Given the description of an element on the screen output the (x, y) to click on. 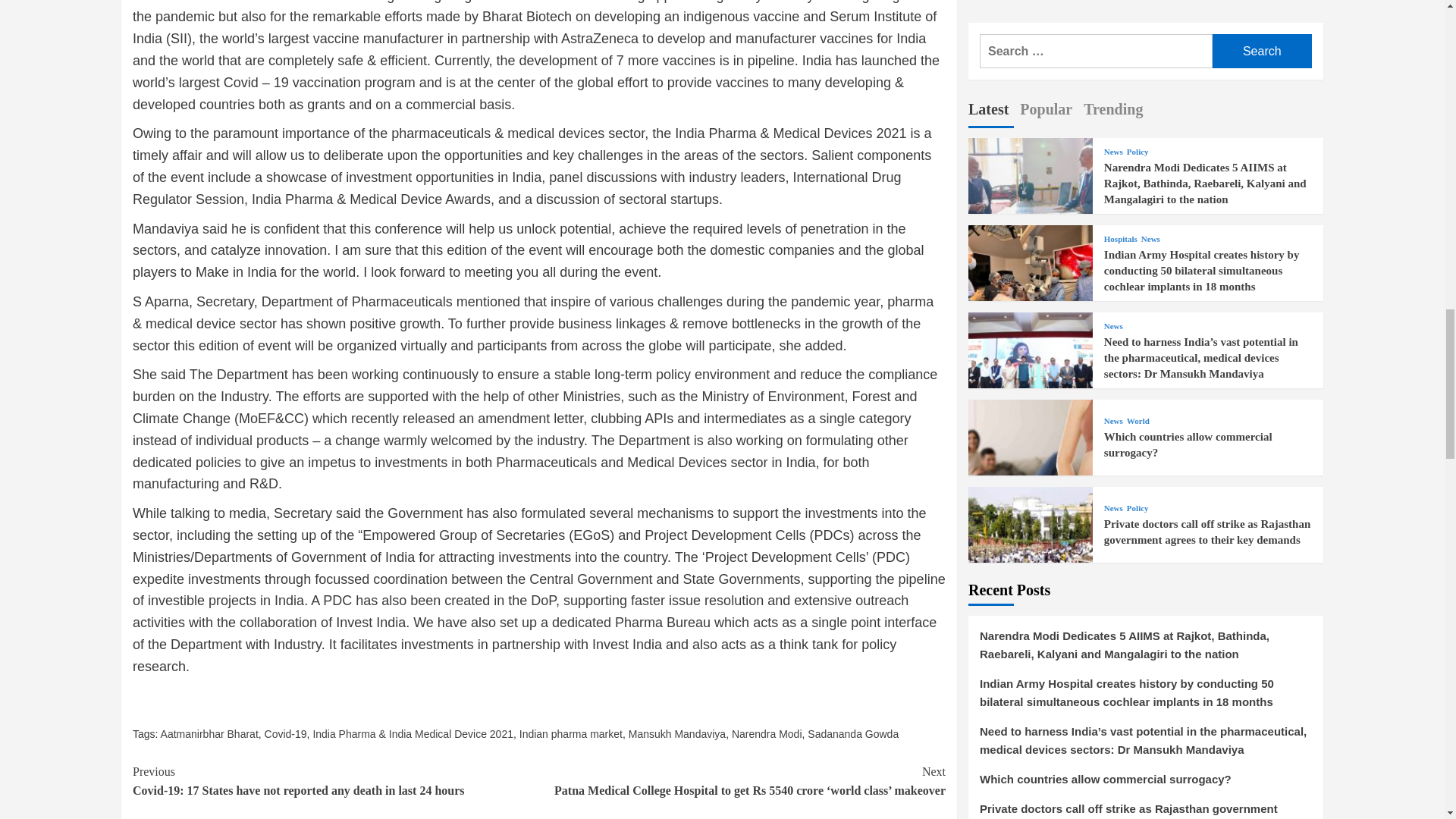
Aatmanirbhar Bharat (209, 734)
Narendra Modi (767, 734)
Mansukh Mandaviya (676, 734)
Sadananda Gowda (853, 734)
Covid-19 (285, 734)
Indian pharma market (571, 734)
